Given the description of an element on the screen output the (x, y) to click on. 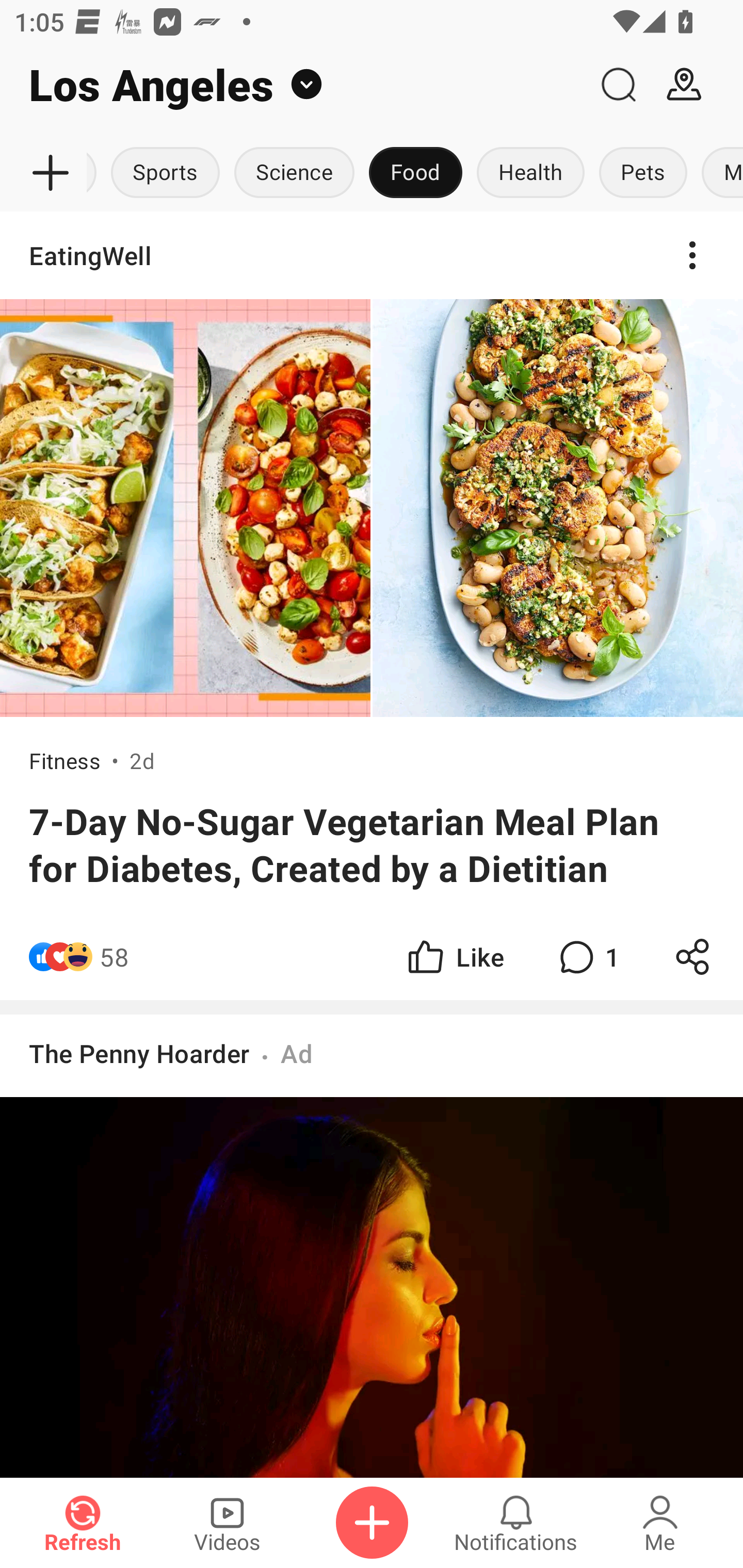
Los Angeles (292, 84)
Sports (165, 172)
Science (294, 172)
Food (415, 172)
Health (530, 172)
Pets (643, 172)
EatingWell (371, 255)
58 (114, 957)
Like (454, 957)
1 (587, 957)
The Penny Hoarder (138, 1053)
Videos (227, 1522)
Notifications (516, 1522)
Me (659, 1522)
